Given the description of an element on the screen output the (x, y) to click on. 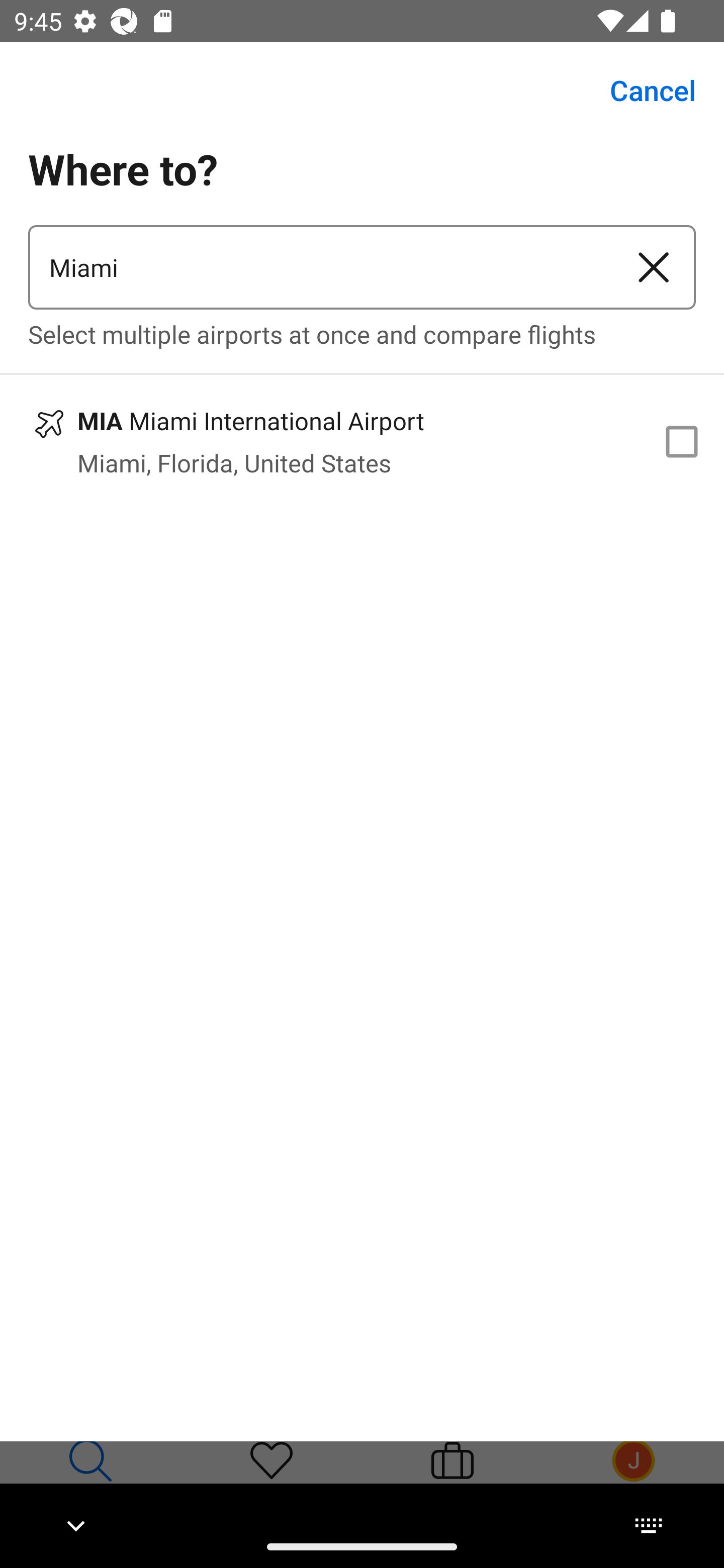
Cancel (641, 90)
Miami (319, 266)
Clear airport or city (653, 266)
